Given the description of an element on the screen output the (x, y) to click on. 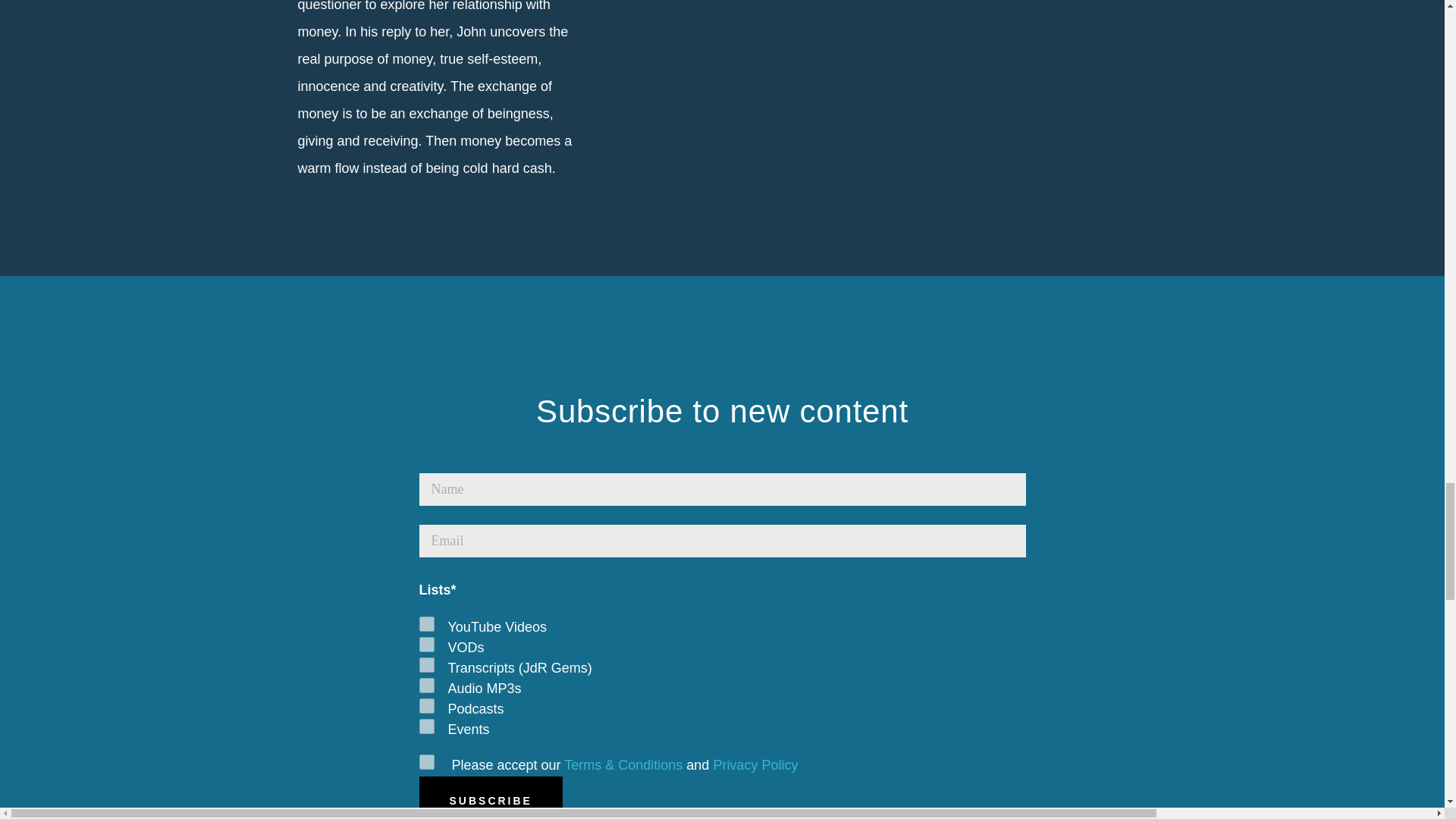
7ff5296fd419 (426, 705)
3792c4f3c699 (426, 644)
Subscribe (490, 797)
cfc05612f6f7 (426, 726)
8d23cad0009a (426, 623)
8f3c38fb4dff (426, 685)
true (426, 761)
ed78385a275f (426, 664)
